Given the description of an element on the screen output the (x, y) to click on. 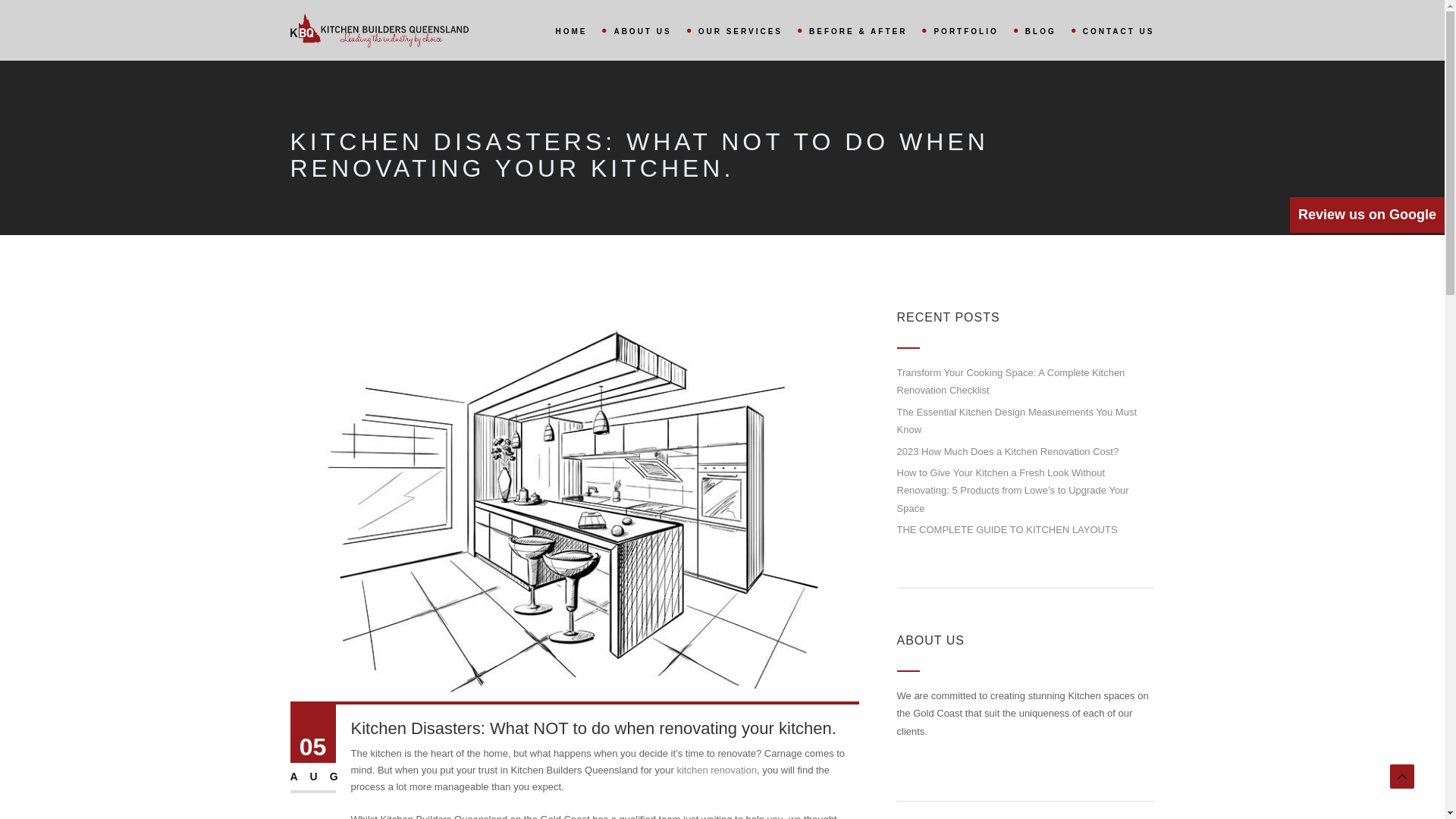
Review us on Google Element type: text (1366, 214)
kitchen renovation Element type: text (716, 769)
The Essential Kitchen Design Measurements You Must Know Element type: text (1016, 420)
2023 How Much Does a Kitchen Renovation Cost? Element type: text (1007, 451)
THE COMPLETE GUIDE TO KITCHEN LAYOUTS Element type: text (1006, 529)
structure Element type: hover (573, 505)
CONTACT US Element type: text (1115, 30)
ABOUT US Element type: text (650, 30)
BEFORE & AFTER Element type: text (865, 30)
PORTFOLIO Element type: text (973, 30)
HOME Element type: text (578, 30)
BLOG Element type: text (1048, 30)
OUR SERVICES Element type: text (748, 30)
